Given the description of an element on the screen output the (x, y) to click on. 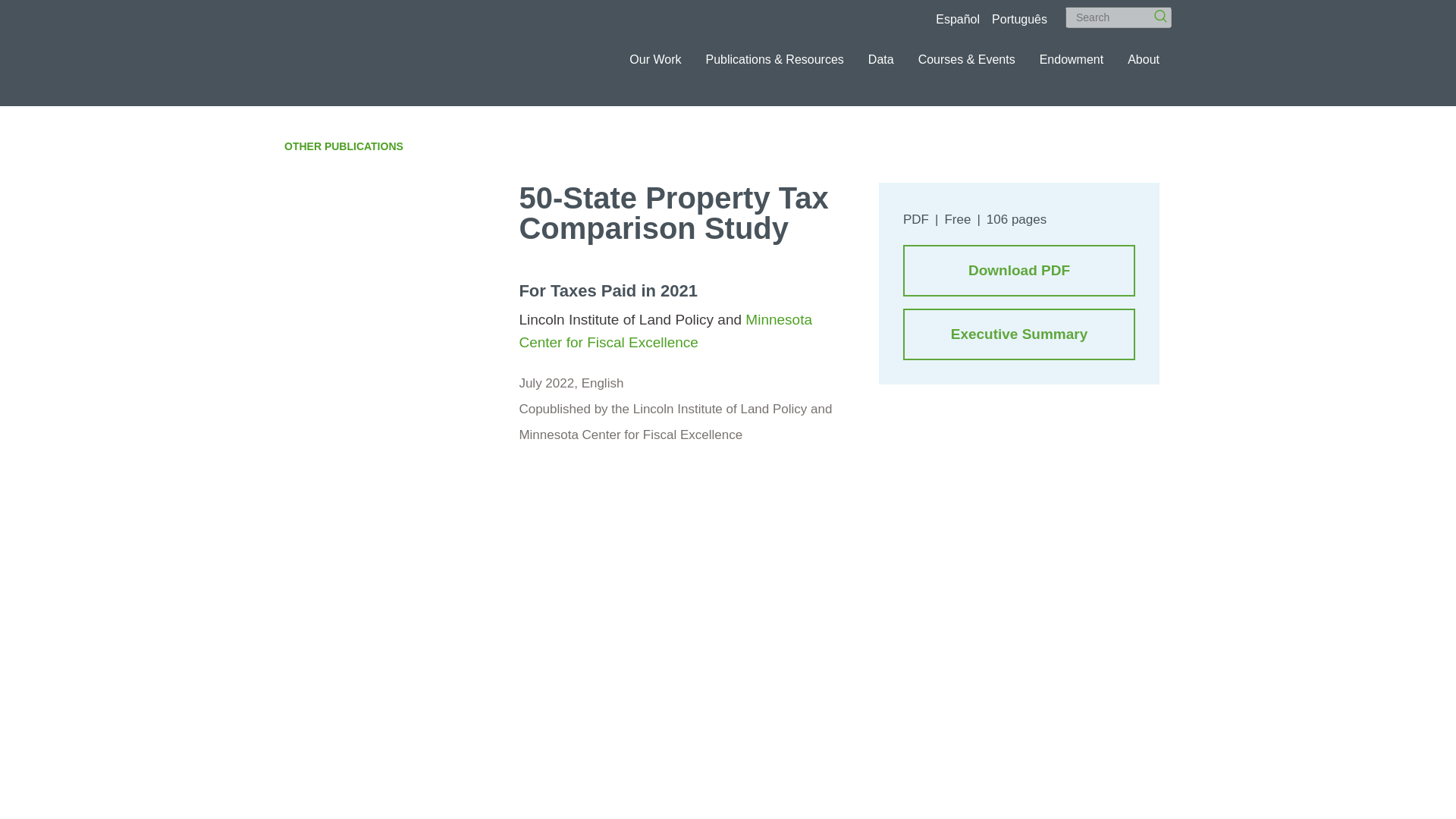
Our Work (654, 59)
Search (1154, 11)
Data (880, 59)
Search (1154, 11)
Search (1118, 16)
